Given the description of an element on the screen output the (x, y) to click on. 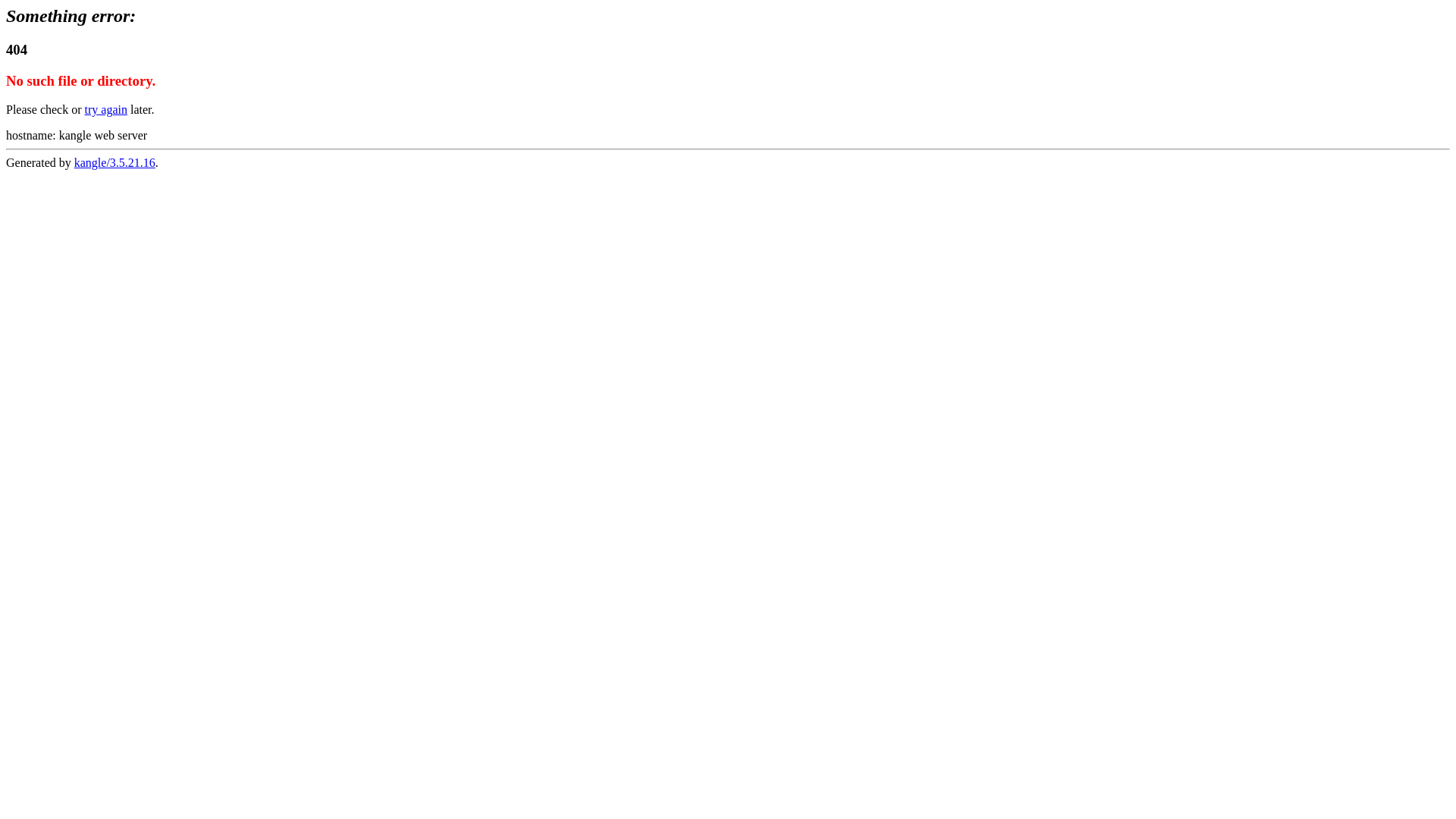
try again Element type: text (105, 109)
kangle/3.5.21.16 Element type: text (114, 162)
